Given the description of an element on the screen output the (x, y) to click on. 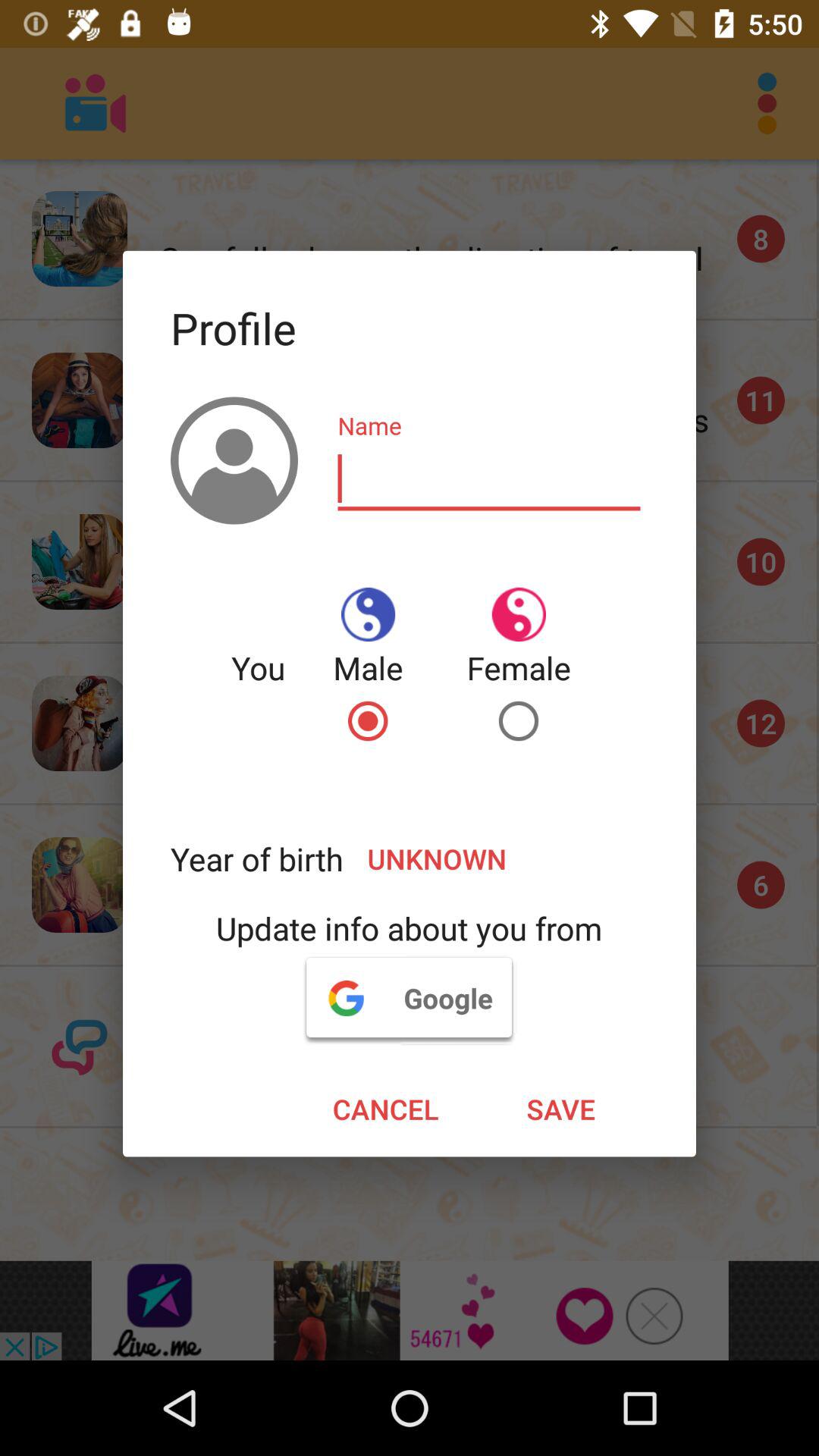
flip until the save item (560, 1108)
